Given the description of an element on the screen output the (x, y) to click on. 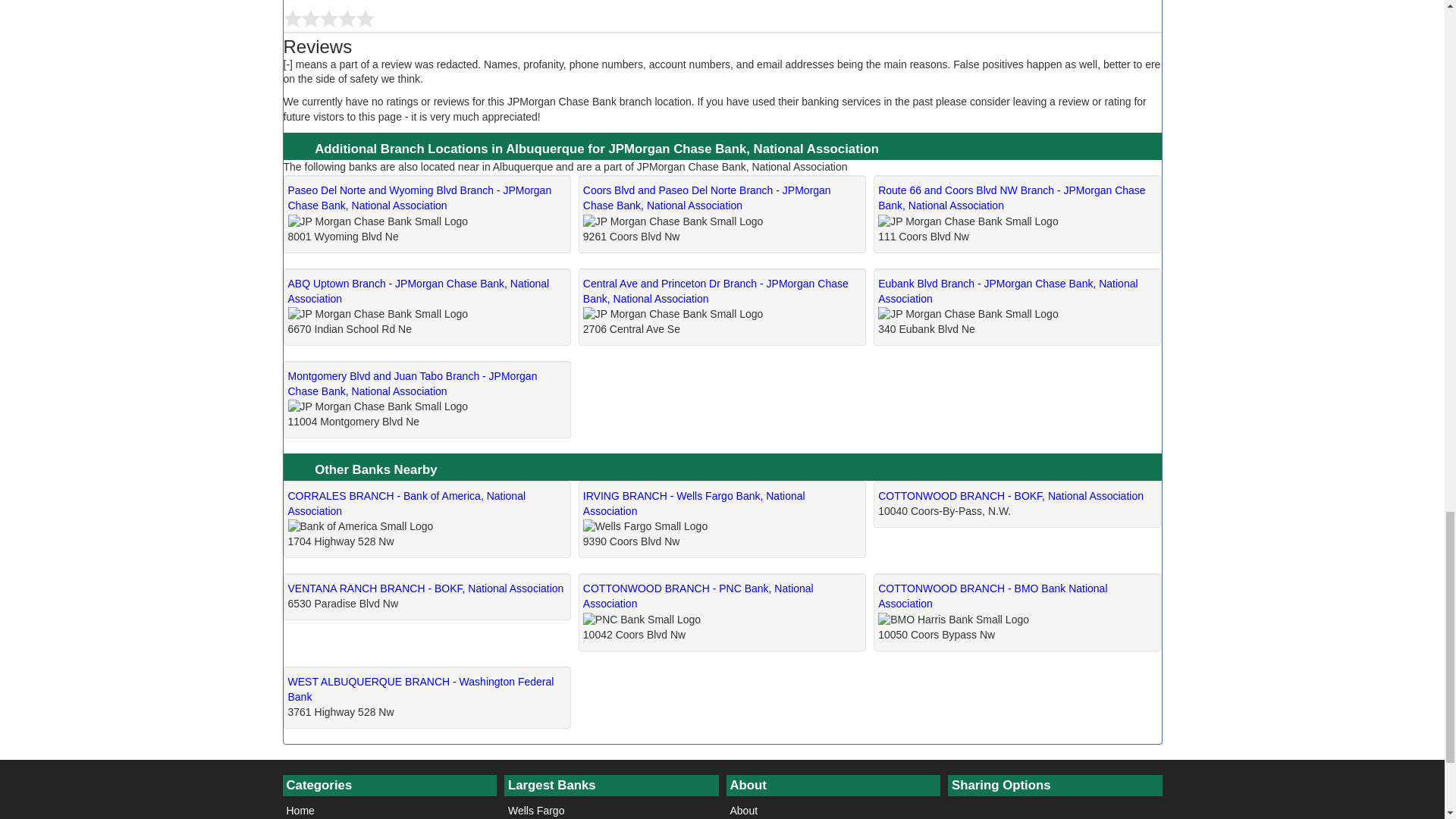
WEST ALBUQUERQUE BRANCH - Washington Federal Bank (421, 688)
COTTONWOOD BRANCH - BOKF, National Association (1009, 495)
COTTONWOOD BRANCH - PNC Bank, National Association (698, 595)
IRVING BRANCH - Wells Fargo Bank, National Association (694, 502)
About (833, 807)
Wells Fargo (611, 807)
COTTONWOOD BRANCH - BMO Bank National Association (991, 595)
VENTANA RANCH BRANCH - BOKF, National Association (426, 588)
Home (389, 807)
CORRALES BRANCH - Bank of America, National Association (406, 502)
